Given the description of an element on the screen output the (x, y) to click on. 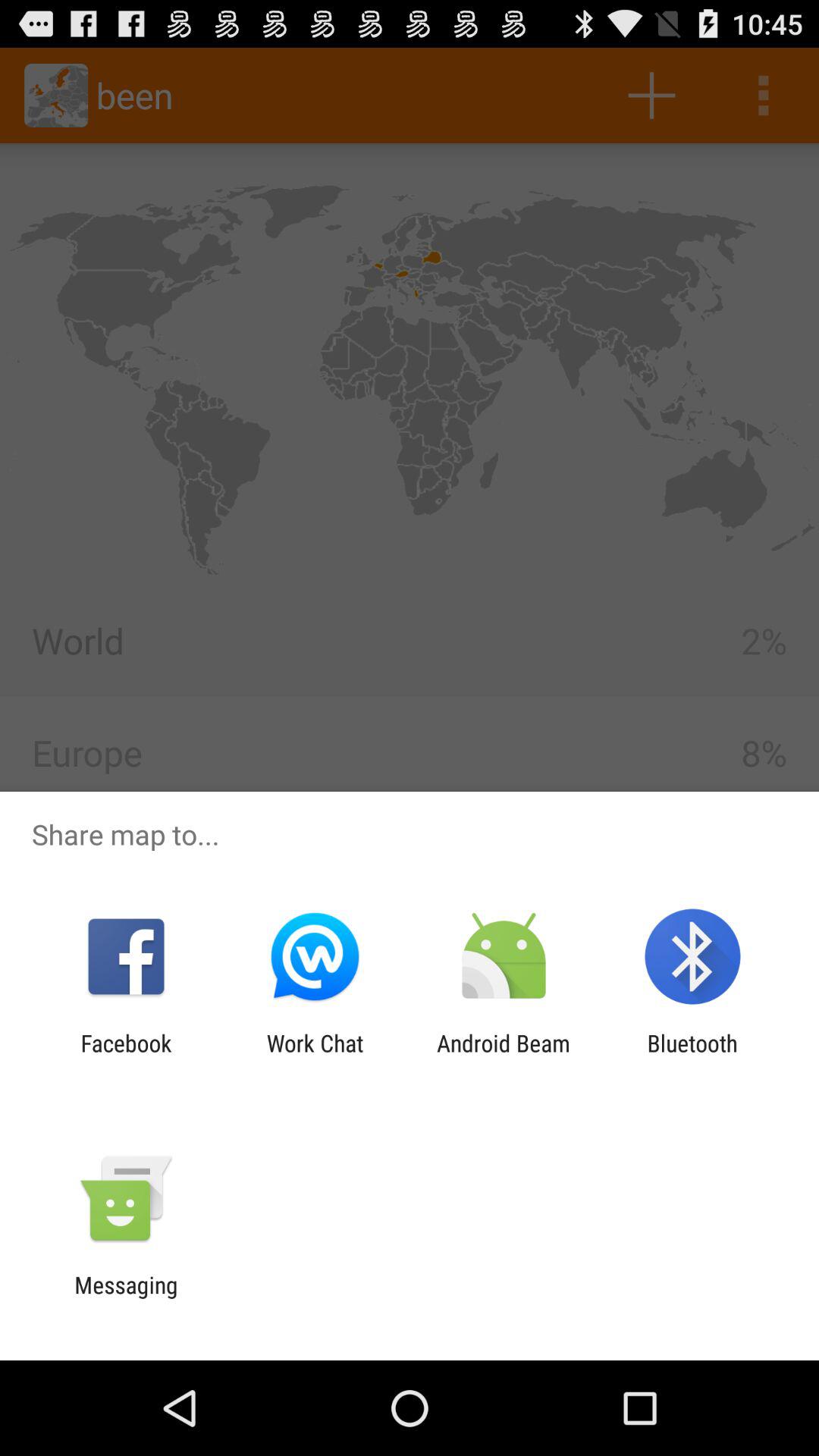
select the app to the left of bluetooth app (503, 1056)
